Given the description of an element on the screen output the (x, y) to click on. 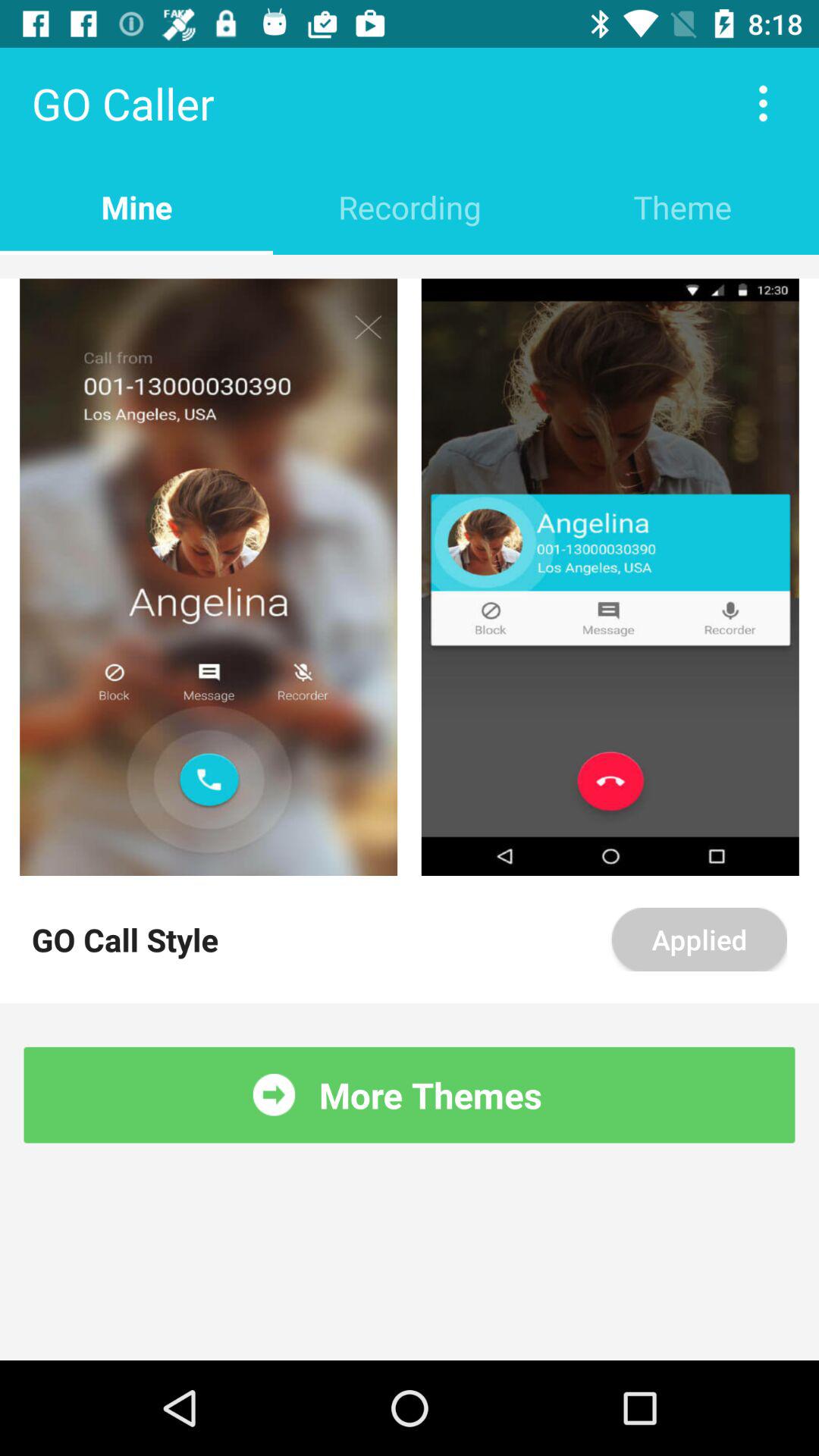
press applied item (699, 939)
